Given the description of an element on the screen output the (x, y) to click on. 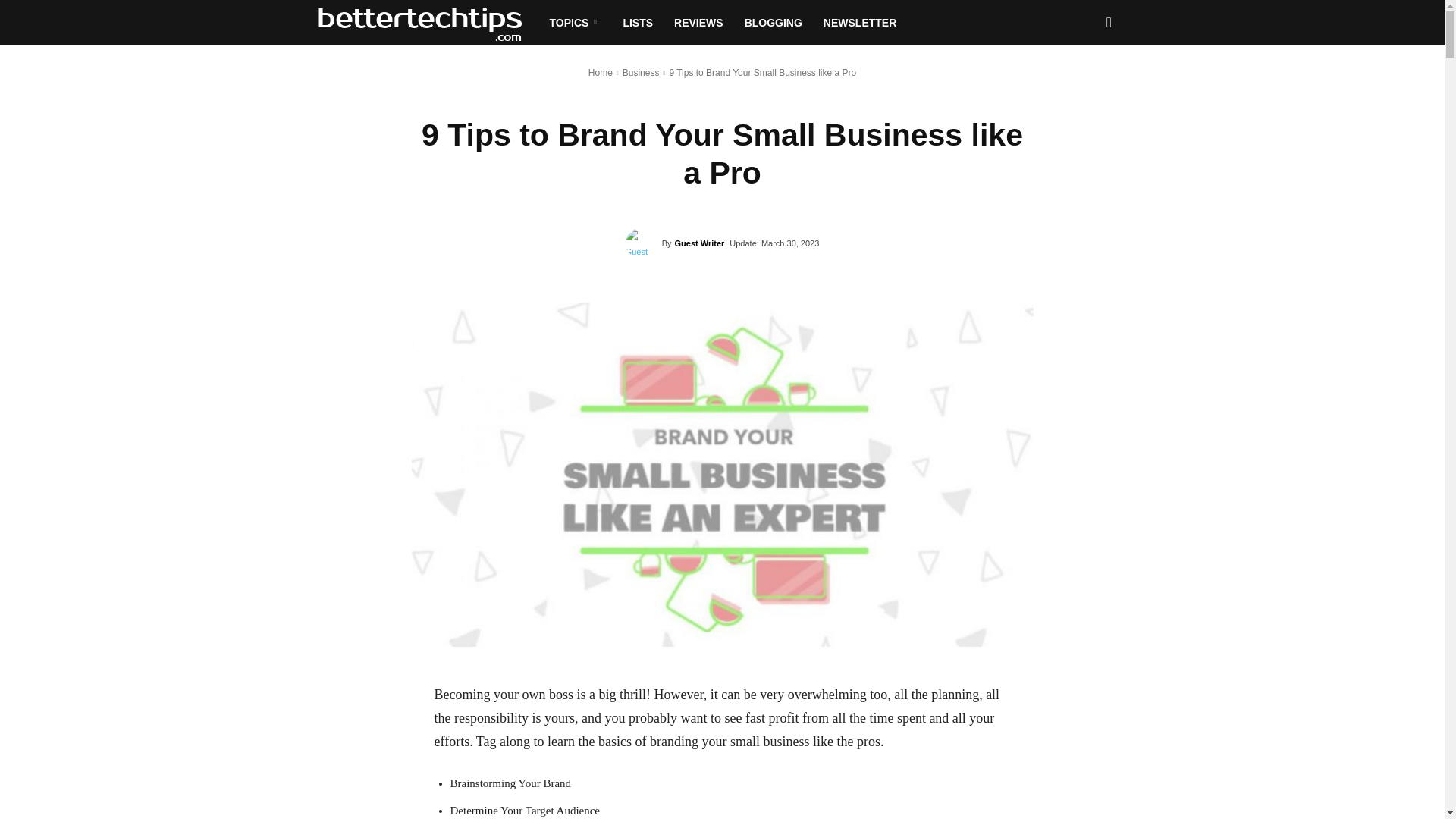
TOPICS (574, 22)
View all posts in Business (641, 72)
REVIEWS (698, 22)
Better Tech Tips (427, 22)
Guest Writer (644, 243)
LISTS (637, 22)
